Given the description of an element on the screen output the (x, y) to click on. 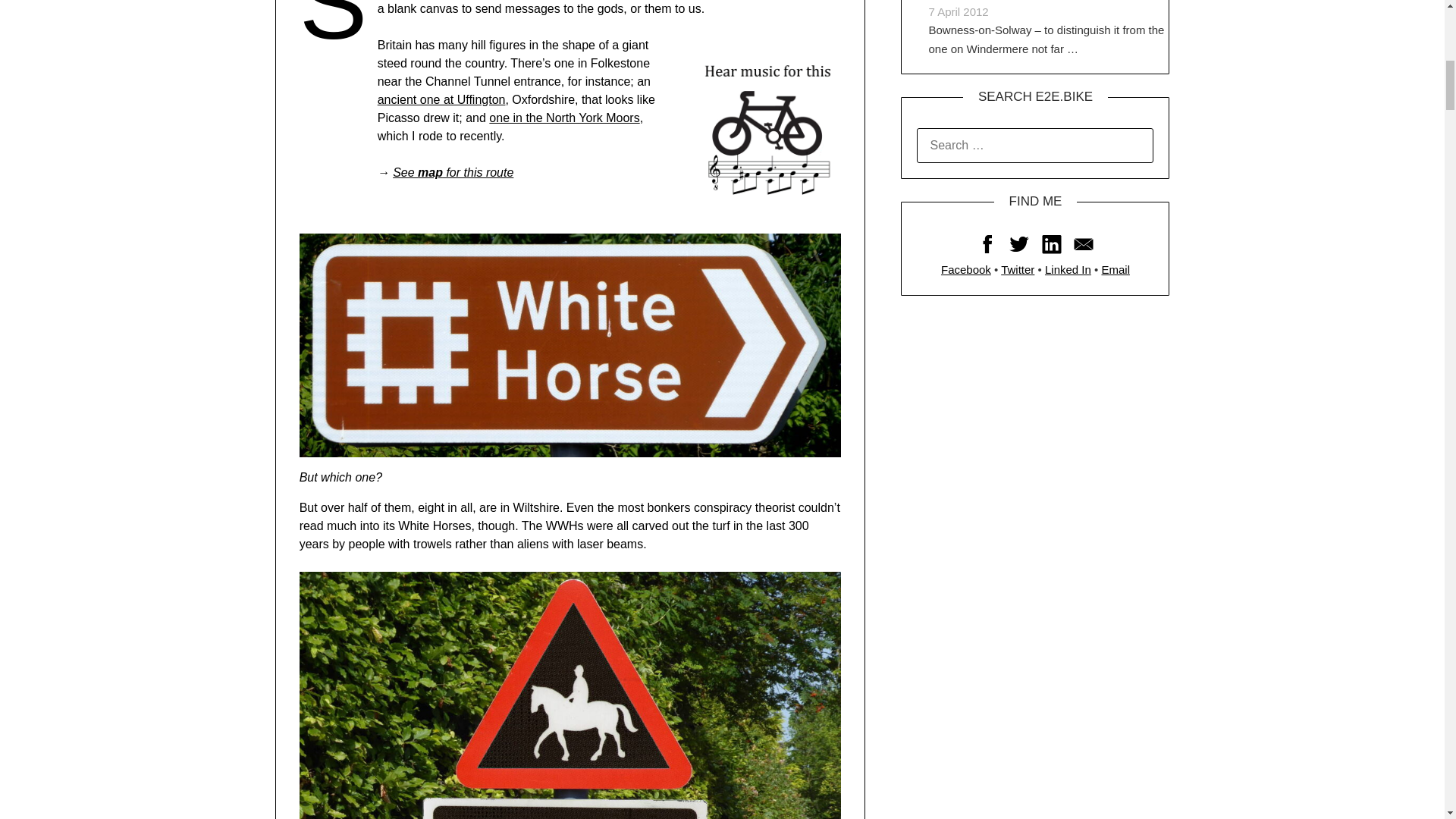
See map for this route (453, 172)
one in the North York Moors (564, 117)
ancient one at Uffington (441, 99)
